Given the description of an element on the screen output the (x, y) to click on. 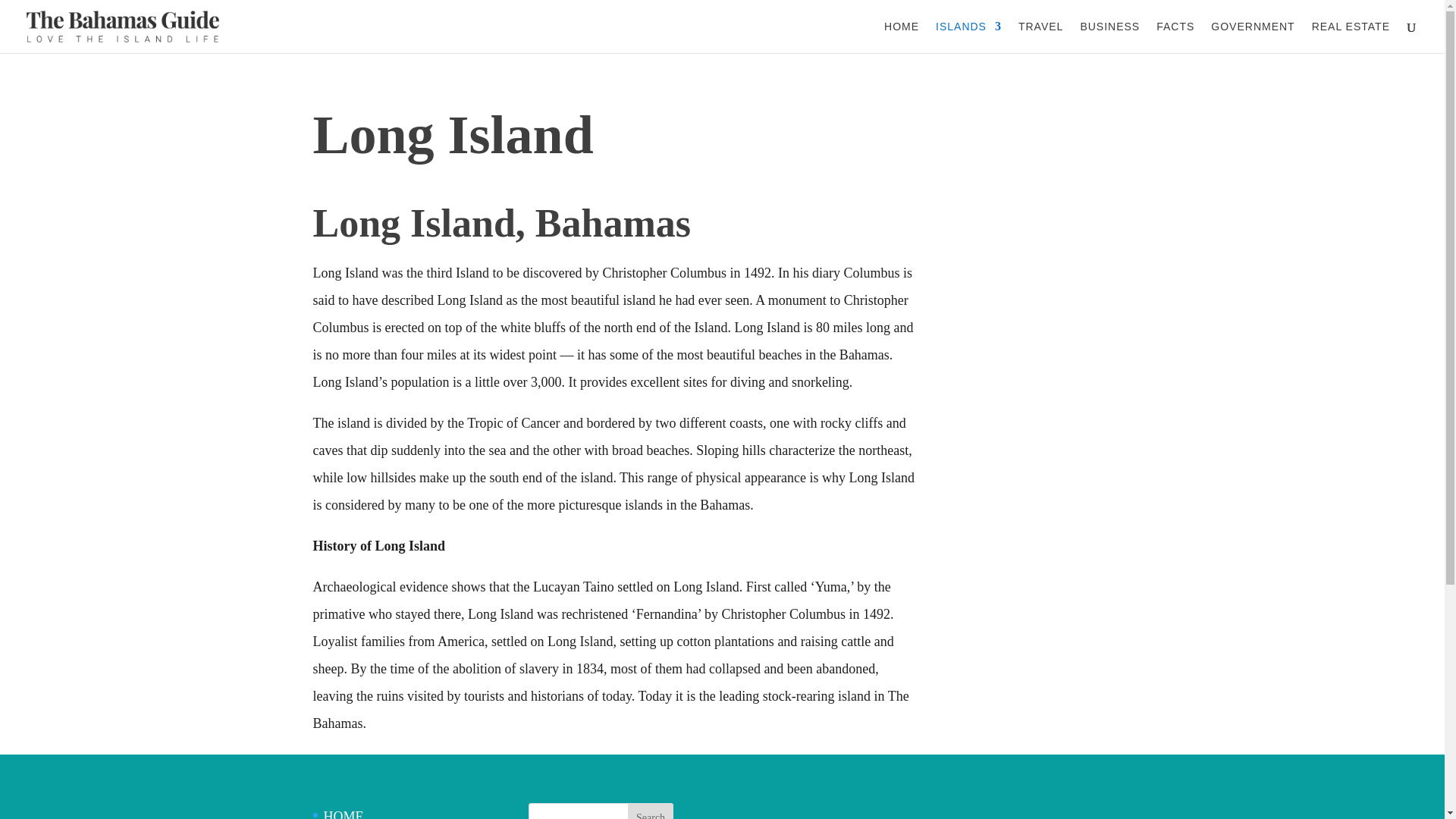
GOVERNMENT (1252, 37)
HOME (900, 37)
TRAVEL (1039, 37)
REAL ESTATE (1350, 37)
Search (649, 811)
FACTS (1174, 37)
ISLANDS (968, 37)
BUSINESS (1110, 37)
